Given the description of an element on the screen output the (x, y) to click on. 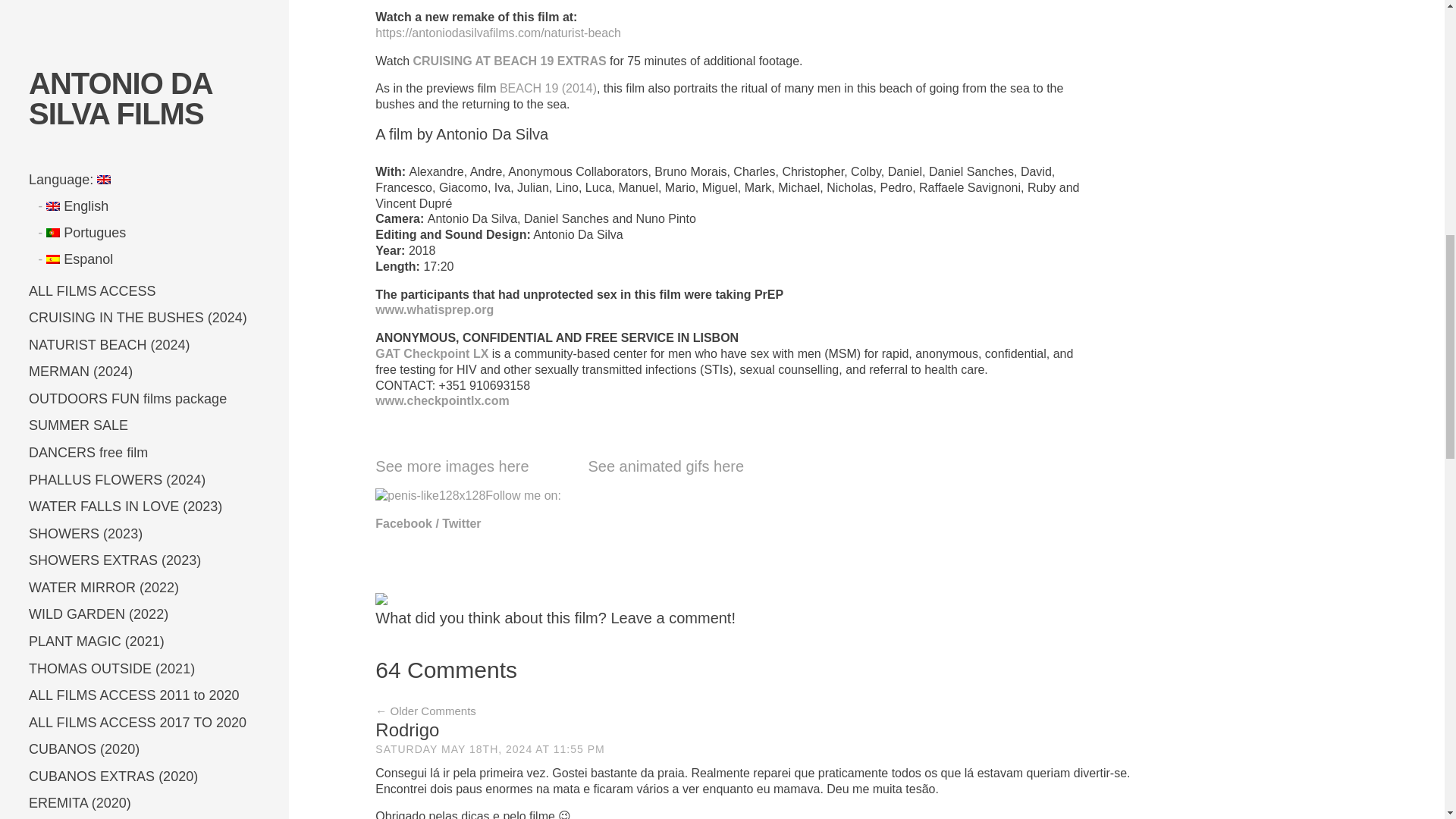
Follow me on Facebook! (467, 495)
Follow me on Facebook! (408, 522)
DOGGERS EXTRAS (508, 60)
